Given the description of an element on the screen output the (x, y) to click on. 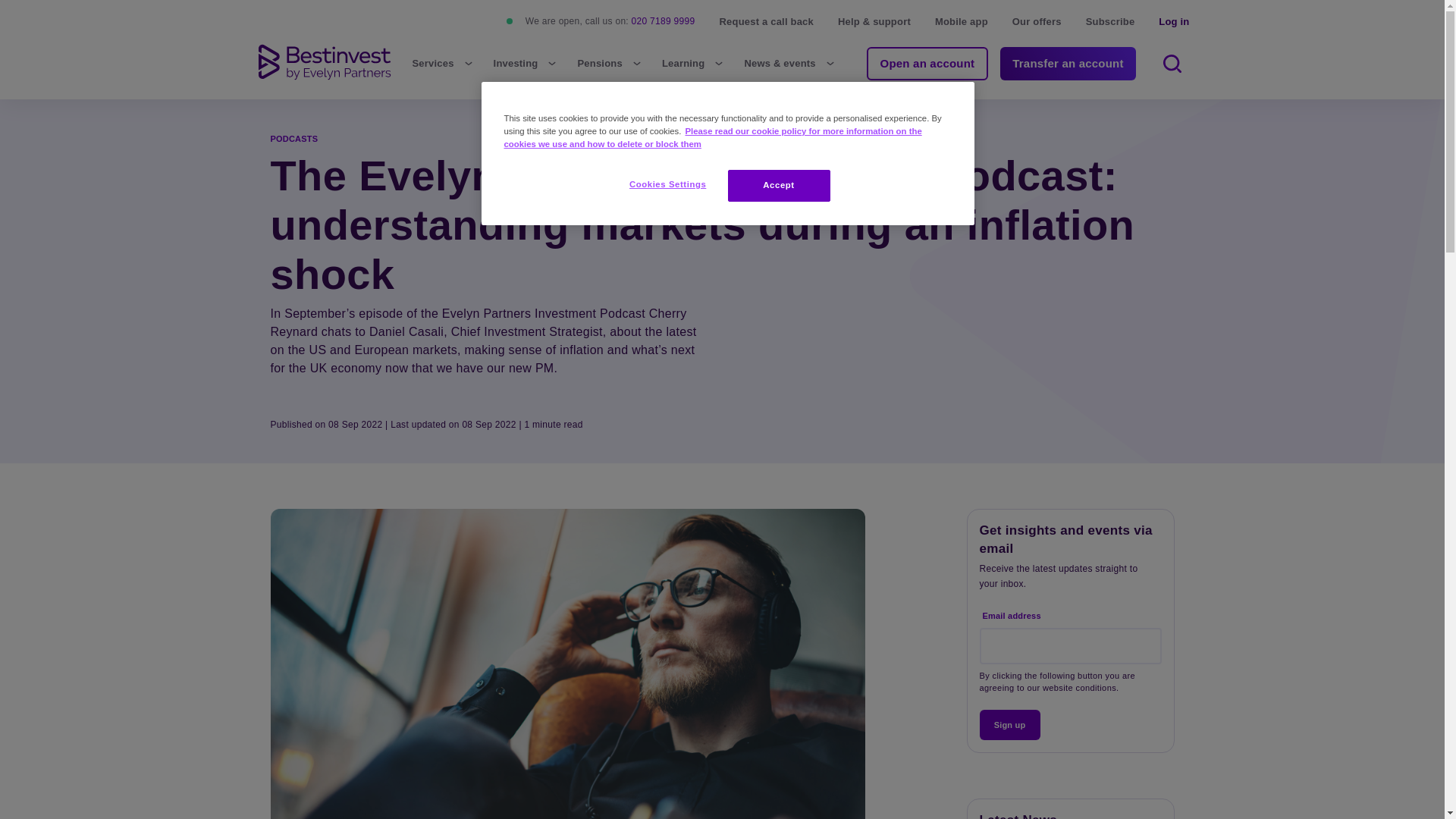
Services (443, 63)
Request a call back (765, 21)
Website conditions (1079, 687)
Investing (526, 63)
Our offers (1036, 21)
Log in (1173, 21)
Mobile app (961, 21)
Subscribe (1110, 21)
020 7189 9999 (663, 20)
